Given the description of an element on the screen output the (x, y) to click on. 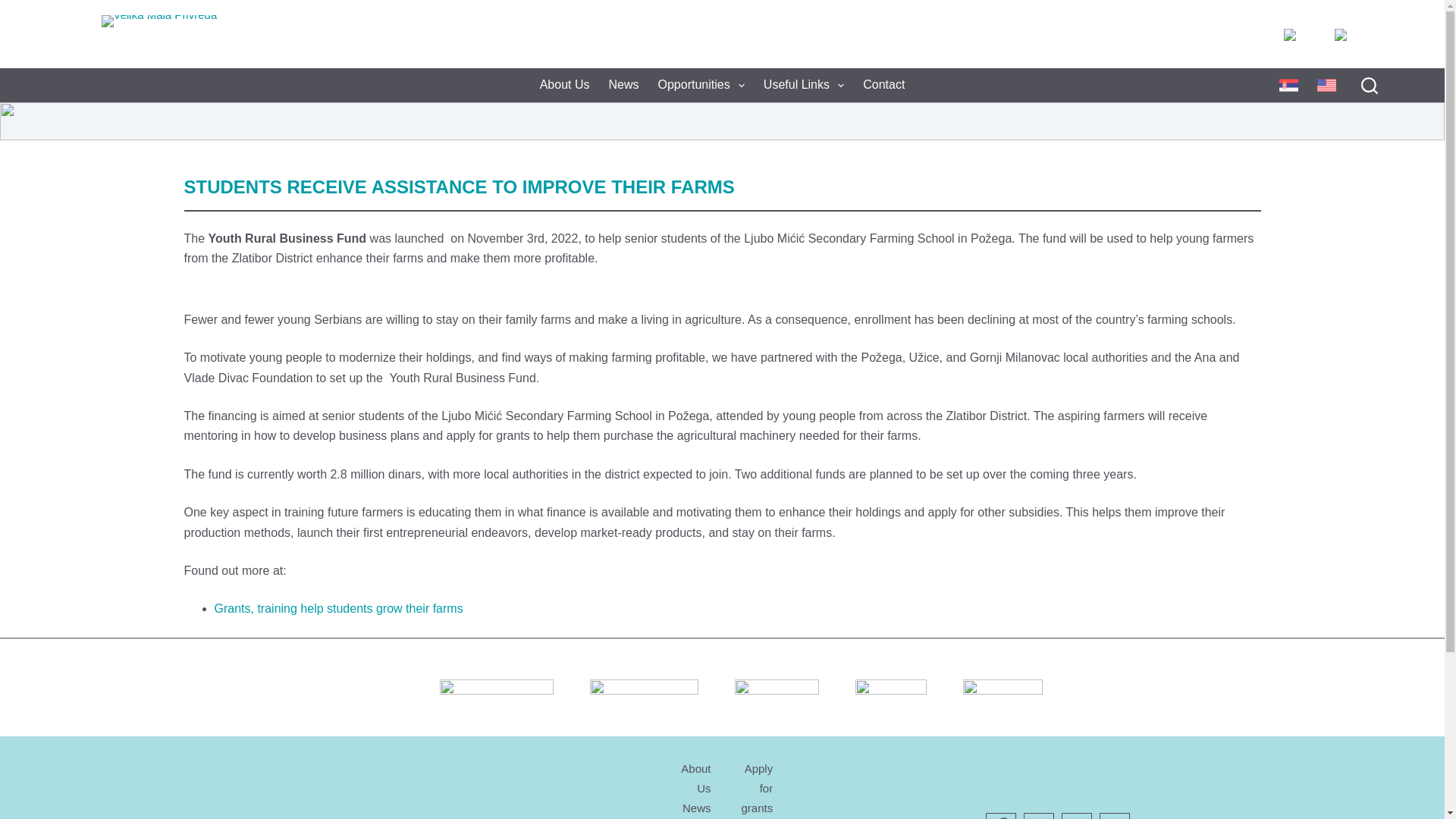
Useful Links (803, 84)
Grants, training help students grow their farms (338, 608)
News (622, 84)
Skip to content (15, 7)
Opportunities (700, 84)
About Us (563, 84)
Contact (883, 84)
